Given the description of an element on the screen output the (x, y) to click on. 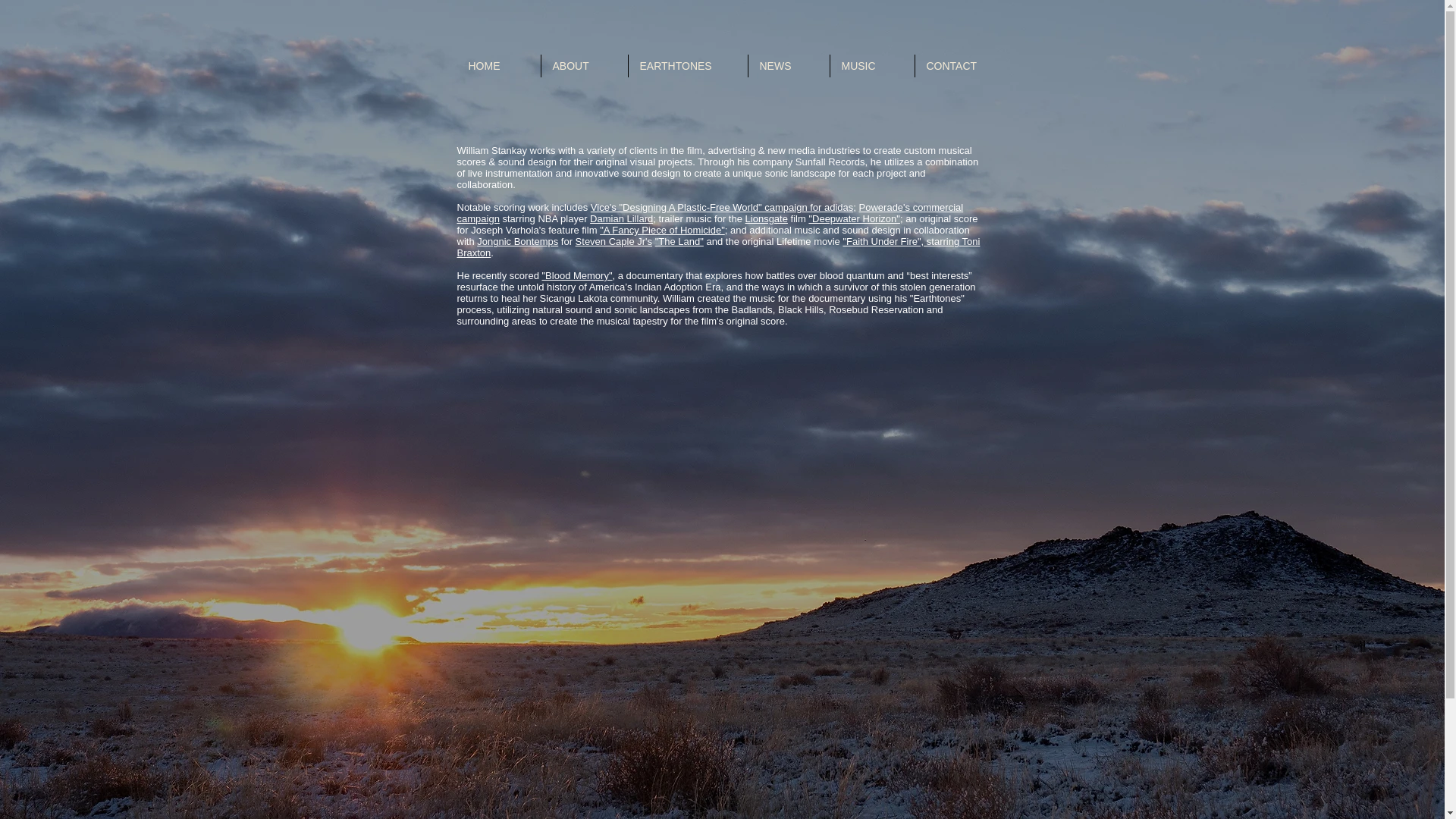
Vice's "Designing A Plastic-Free World" campaign for adidas (722, 206)
NEWS (788, 65)
"Blood Memory" (576, 275)
"Deepwater Horizon" (853, 218)
ABOUT (584, 65)
Damian Lillard (620, 218)
CONTACT (963, 65)
"Faith Under Fire", starring Toni Braxton (718, 246)
EARTHTONES (686, 65)
Steven Caple Jr's (613, 241)
Lionsgate (766, 218)
"A Fancy Piece of Homicide" (662, 229)
Powerade's commercial campaign (709, 212)
Jongnic Bontemps (517, 241)
"The Land" (679, 241)
